Given the description of an element on the screen output the (x, y) to click on. 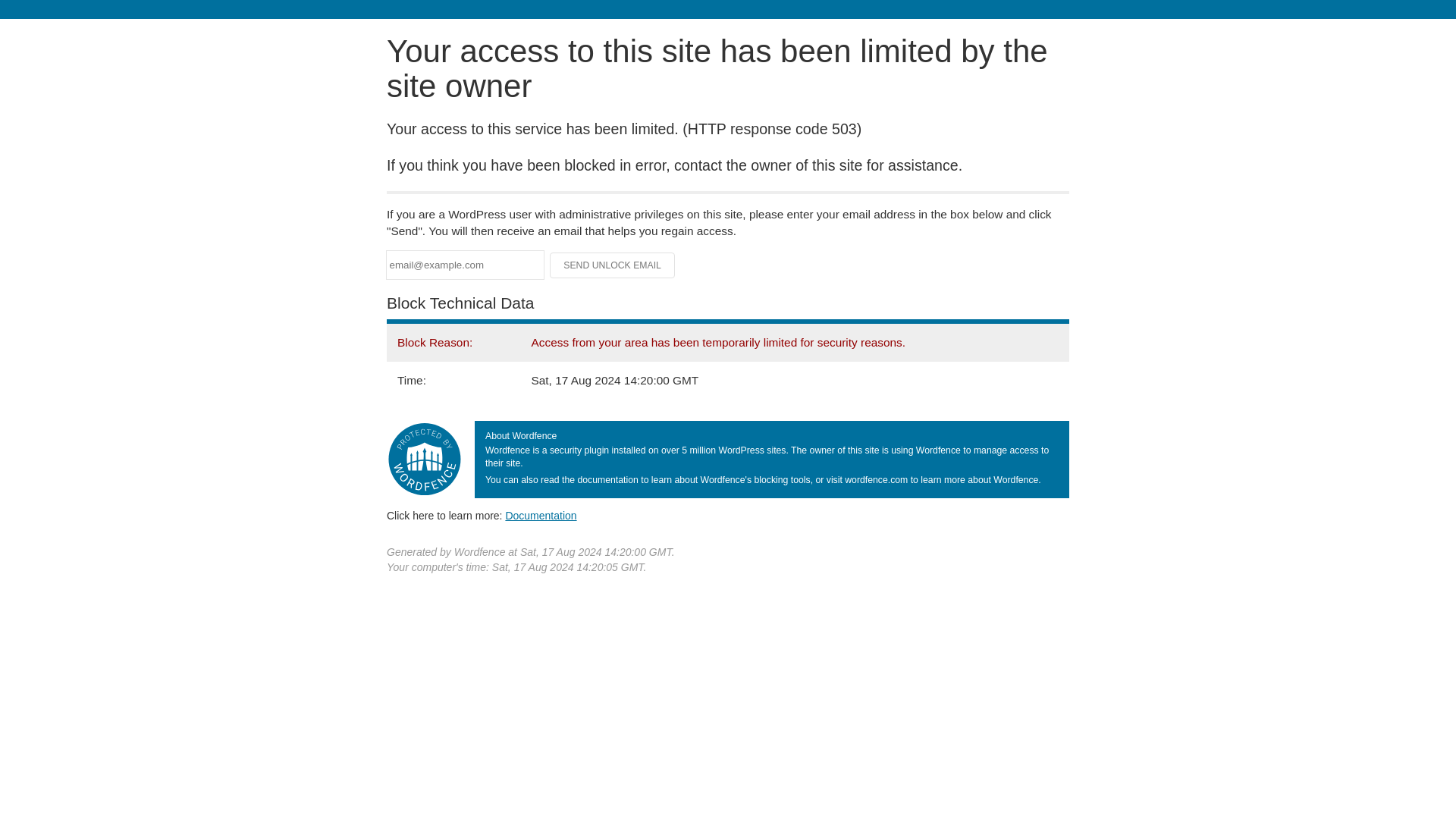
Send Unlock Email (612, 265)
Send Unlock Email (612, 265)
Documentation (540, 515)
